Given the description of an element on the screen output the (x, y) to click on. 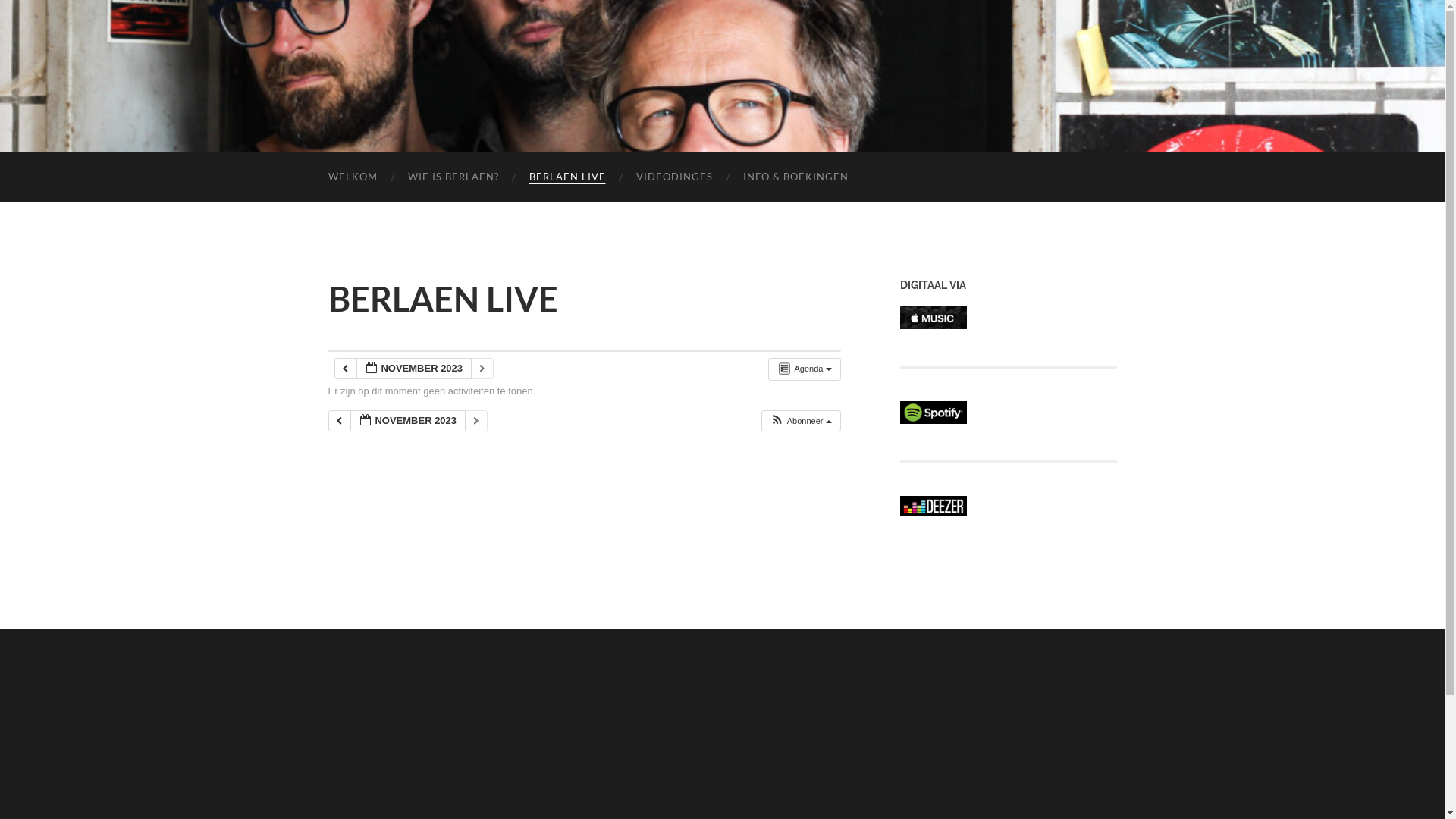
Agenda Element type: text (804, 368)
VIDEODINGES Element type: text (673, 176)
BERLAEN LIVE Element type: text (567, 176)
WIE IS BERLAEN? Element type: text (453, 176)
NOVEMBER 2023 Element type: text (408, 421)
DIGITAAL VIA Element type: hover (932, 323)
WELKOM Element type: text (352, 176)
INFO & BOEKINGEN Element type: text (795, 176)
NOVEMBER 2023 Element type: text (414, 368)
